Given the description of an element on the screen output the (x, y) to click on. 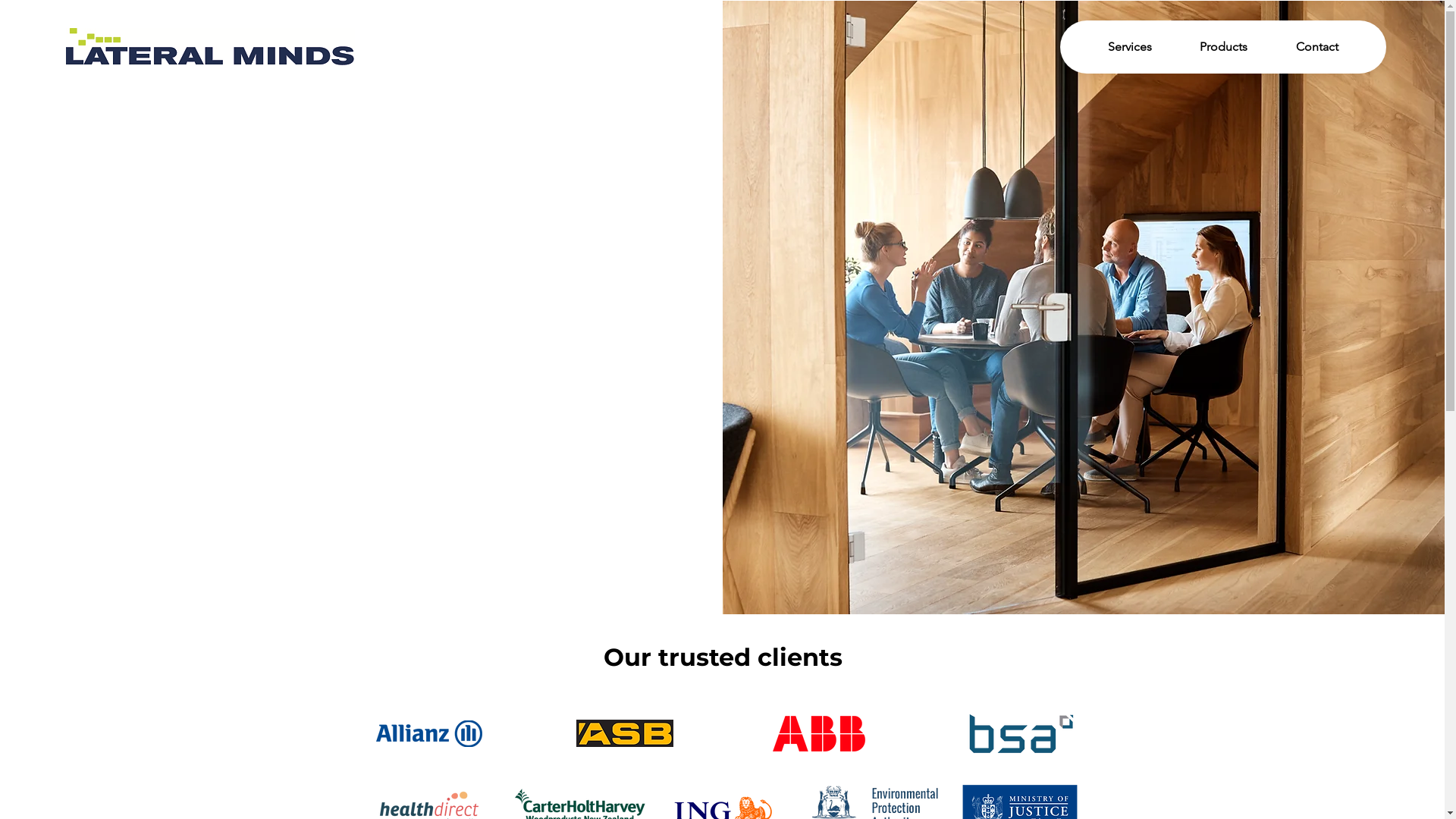
Products Element type: text (1223, 46)
Services Element type: text (1129, 46)
Contact Element type: text (1316, 46)
